Given the description of an element on the screen output the (x, y) to click on. 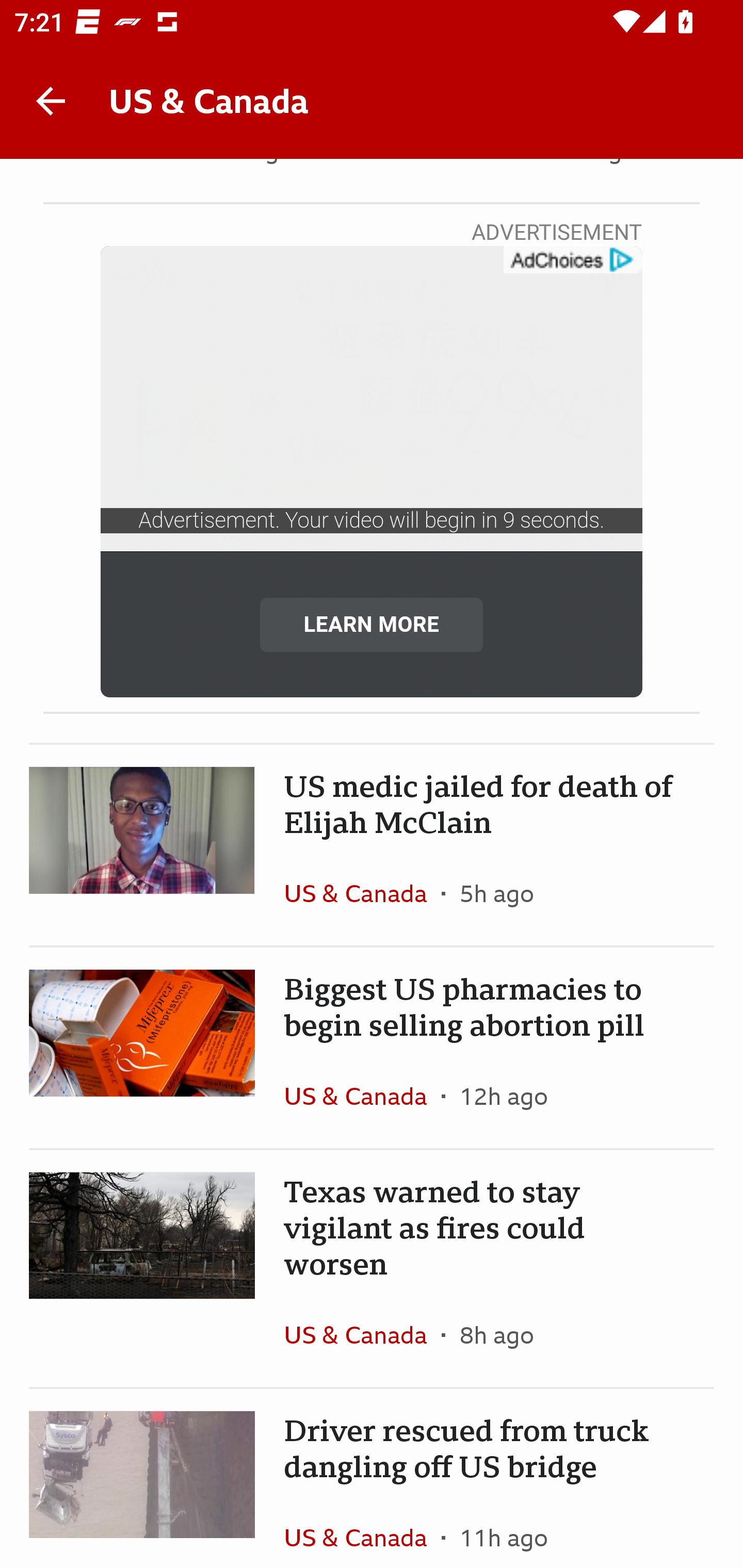
Back (50, 101)
get?name=admarker-full-tl (571, 260)
LEARN MORE (371, 623)
US & Canada In the section US & Canada (362, 893)
US & Canada In the section US & Canada (362, 1095)
US & Canada In the section US & Canada (362, 1334)
US & Canada In the section US & Canada (362, 1526)
